Given the description of an element on the screen output the (x, y) to click on. 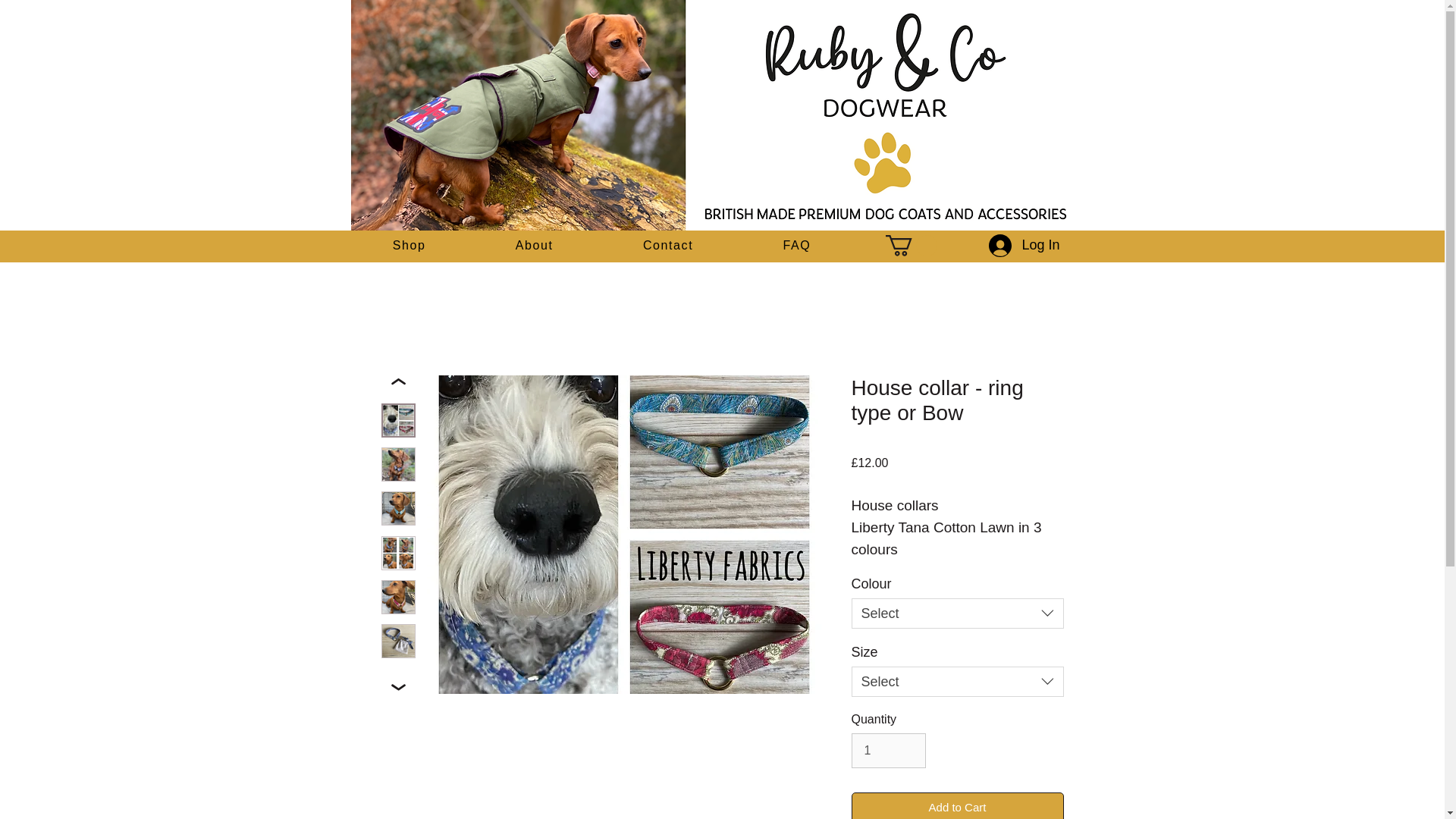
Add to Cart (956, 805)
Log In (1018, 245)
Select (600, 245)
Select (956, 613)
Contact (956, 681)
FAQ (668, 245)
Shop (796, 245)
About (408, 245)
1 (534, 245)
